Given the description of an element on the screen output the (x, y) to click on. 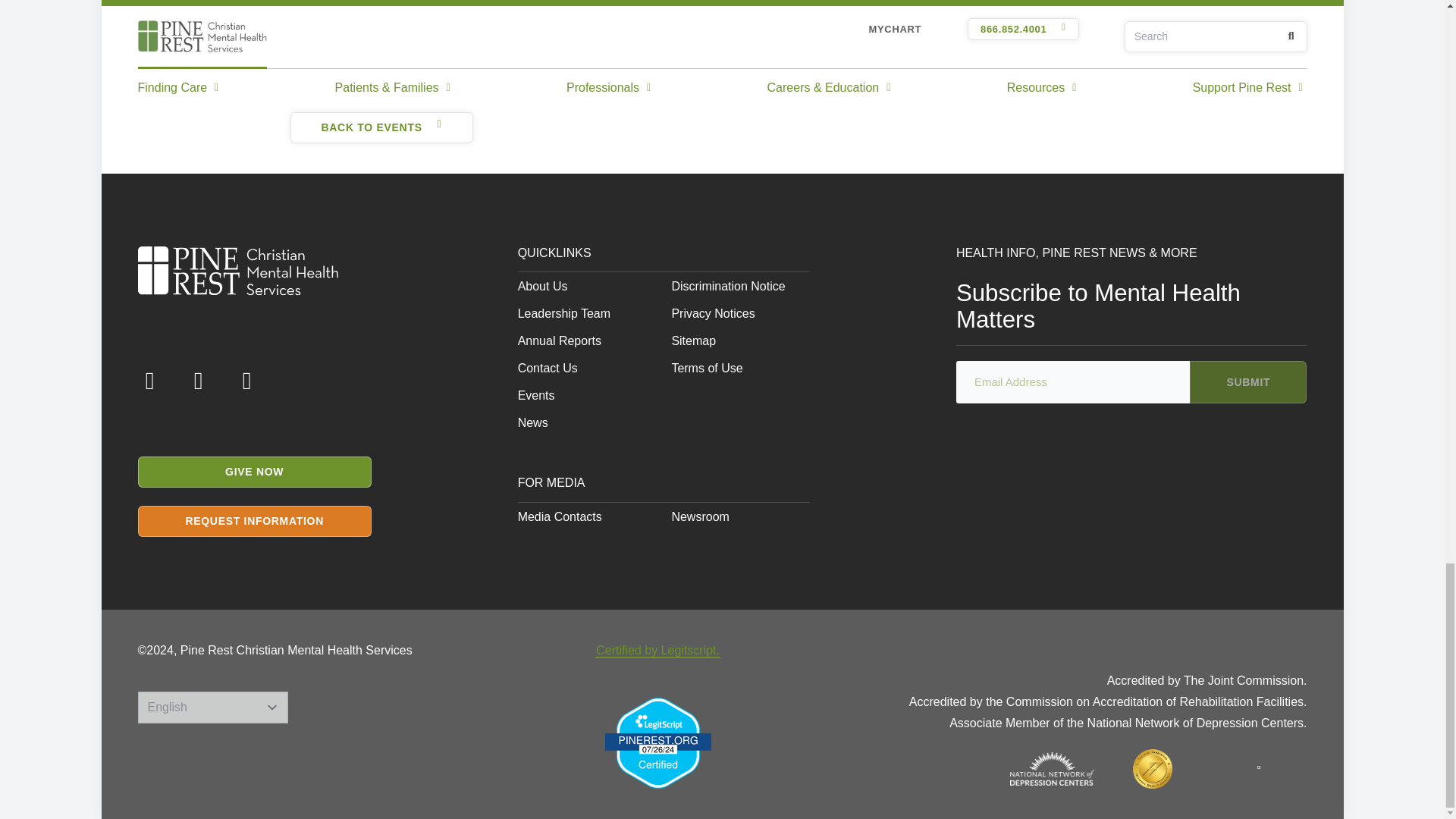
Verify LegitScript Approval (658, 742)
Submit (1247, 382)
